Given the description of an element on the screen output the (x, y) to click on. 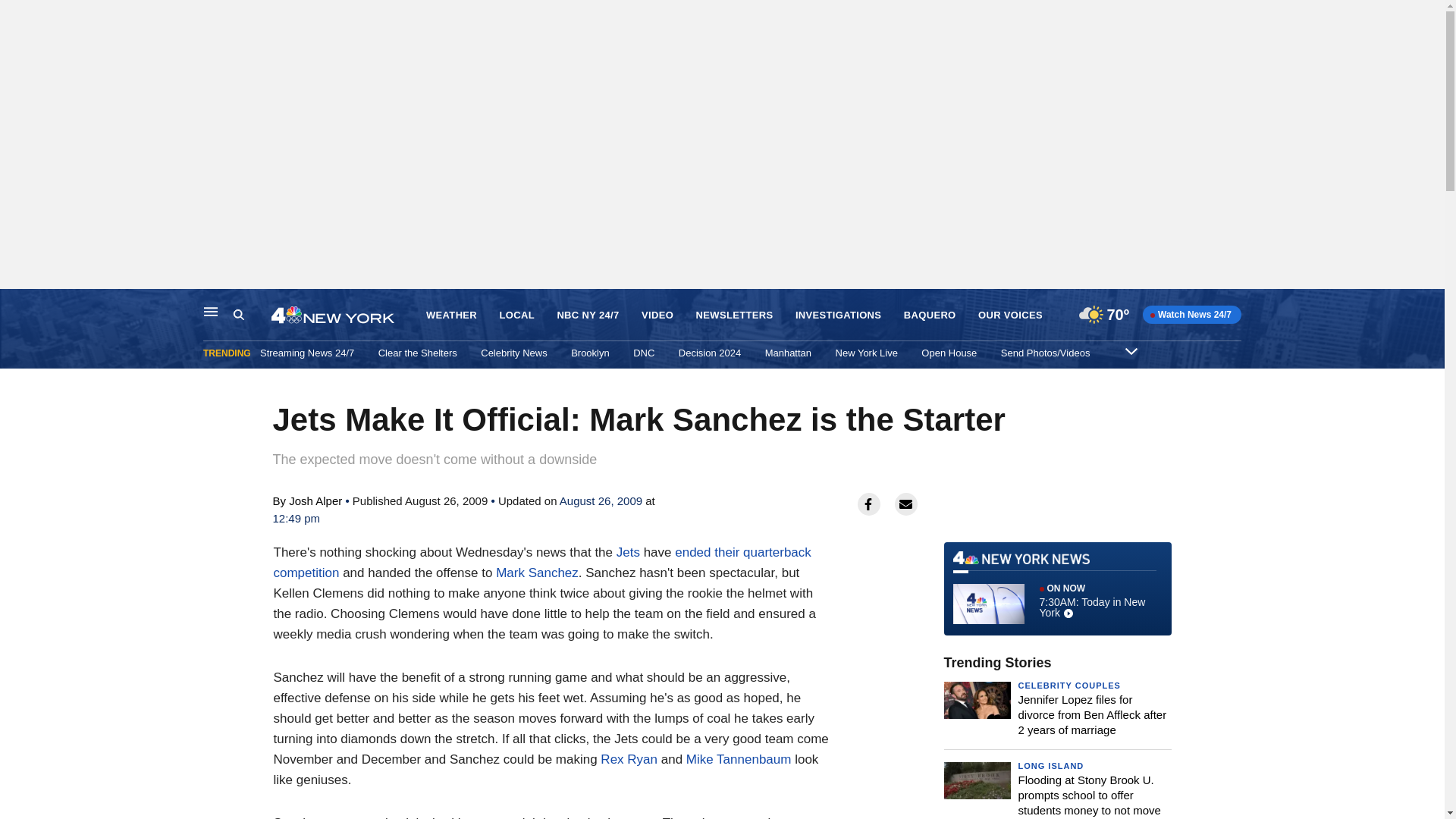
WEATHER (451, 315)
Brooklyn (590, 352)
OUR VOICES (1010, 315)
Manhattan (787, 352)
LOCAL (516, 315)
VIDEO (657, 315)
INVESTIGATIONS (837, 315)
Mike Tannenbaum (738, 759)
Mike Tannenbaum (738, 759)
NEWSLETTERS (734, 315)
